Given the description of an element on the screen output the (x, y) to click on. 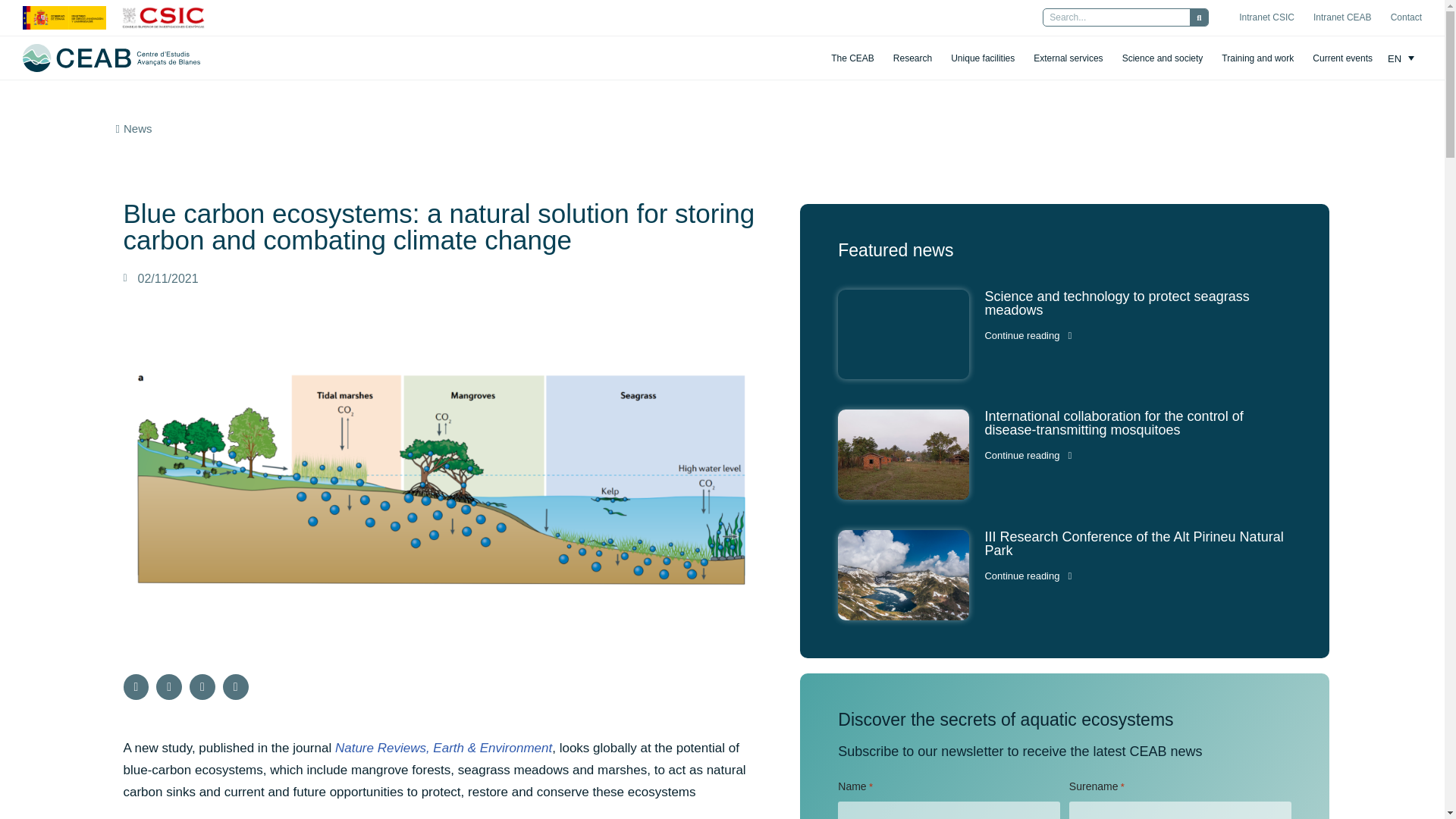
Intranet CSIC (1266, 17)
Contact (1406, 17)
Skip to content (11, 31)
The CEAB (853, 58)
Research (912, 58)
Unique facilities (982, 58)
Science and society (1163, 58)
External services (1067, 58)
Intranet CEAB (1342, 17)
